Given the description of an element on the screen output the (x, y) to click on. 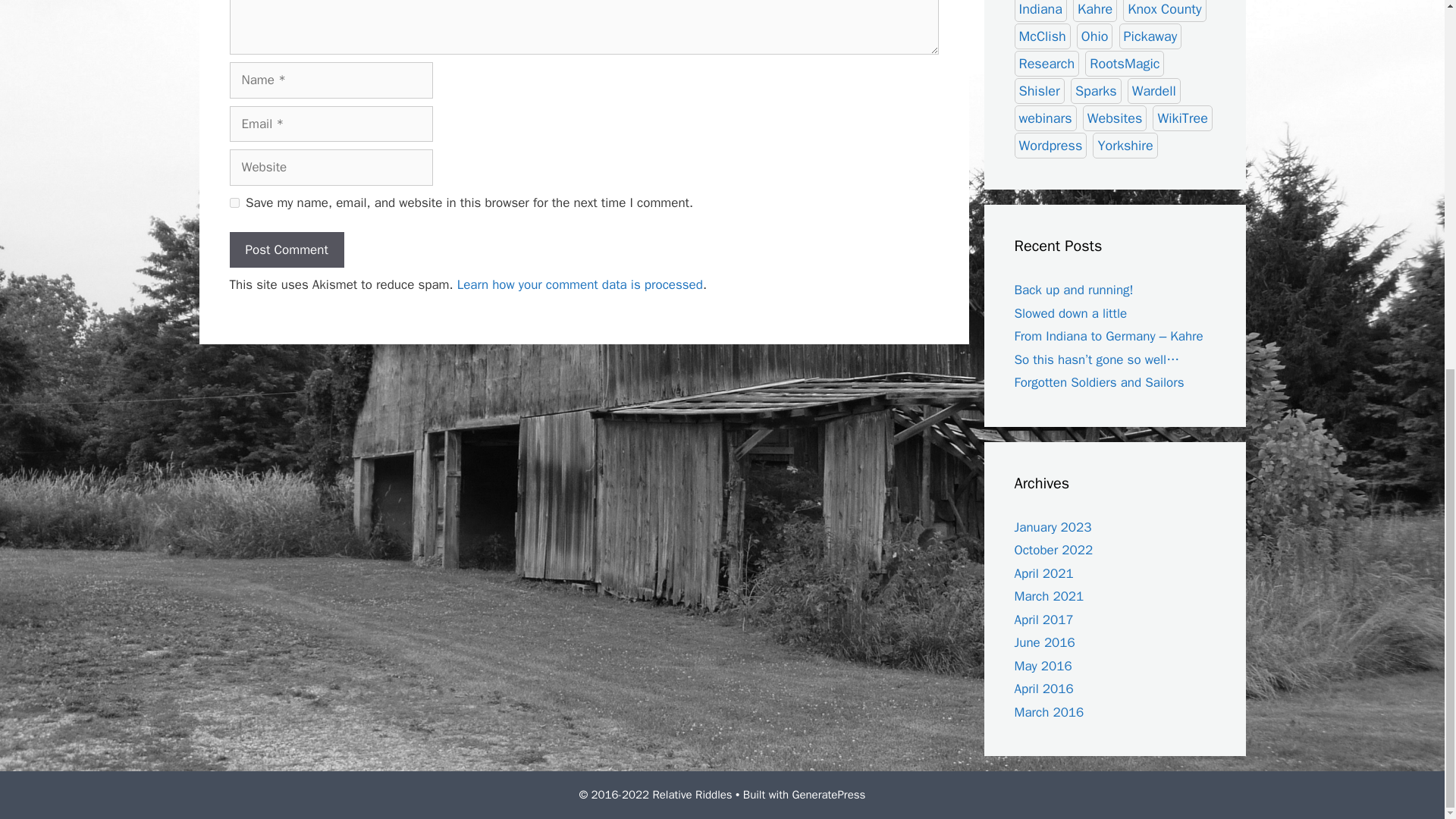
Knox County (1163, 11)
webinars (1045, 118)
Pickaway (1150, 36)
yes (233, 203)
Research (1047, 63)
Post Comment (285, 249)
Learn how your comment data is processed (580, 284)
Sparks (1095, 90)
Shisler (1039, 90)
Wordpress (1050, 145)
Wardell (1153, 90)
Ohio (1095, 36)
RootsMagic (1123, 63)
Websites (1115, 118)
Kahre (1094, 11)
